Given the description of an element on the screen output the (x, y) to click on. 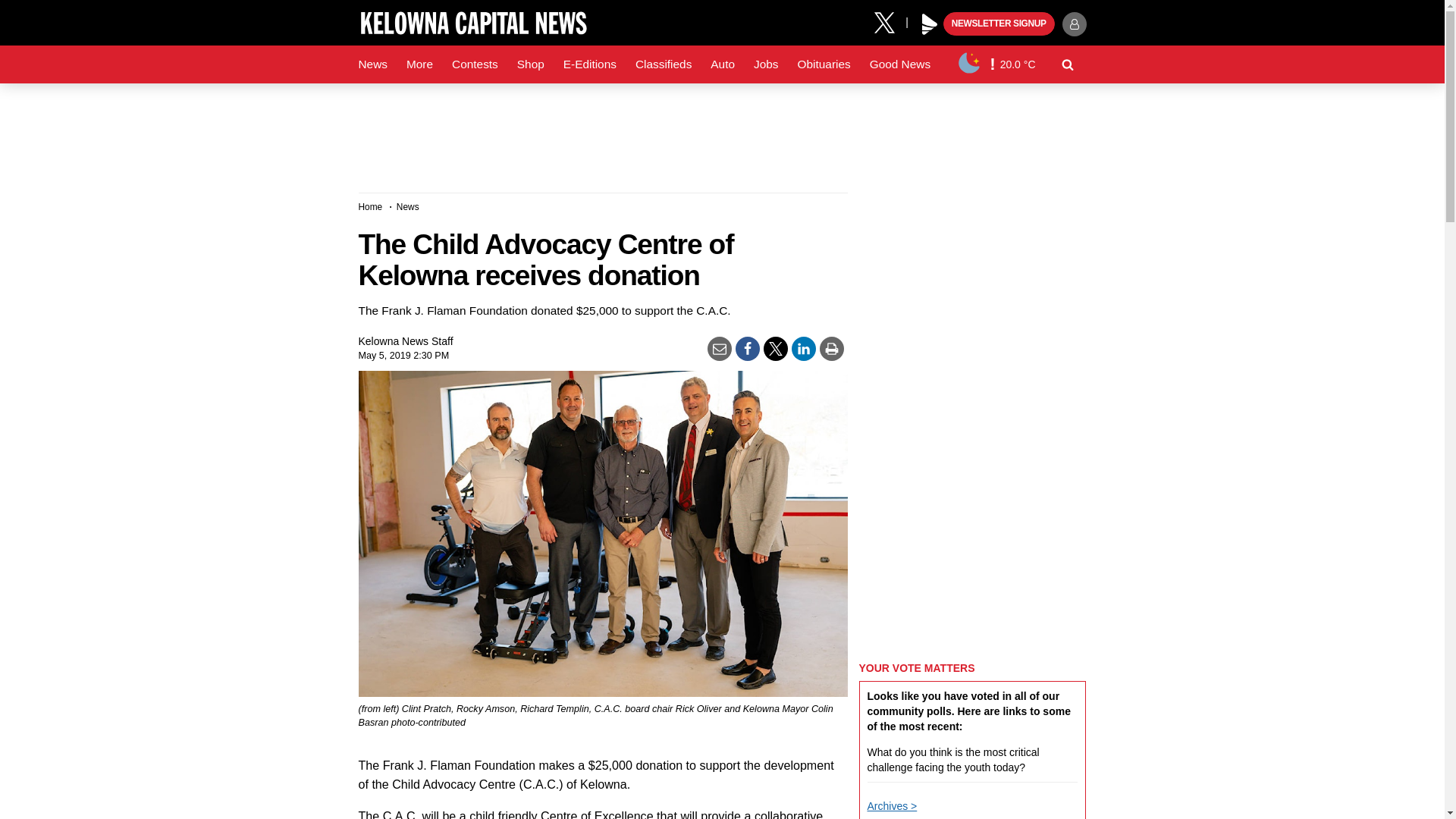
Play (929, 24)
Black Press Media (929, 24)
News (372, 64)
X (889, 21)
3rd party ad content (721, 131)
NEWSLETTER SIGNUP (998, 24)
